Given the description of an element on the screen output the (x, y) to click on. 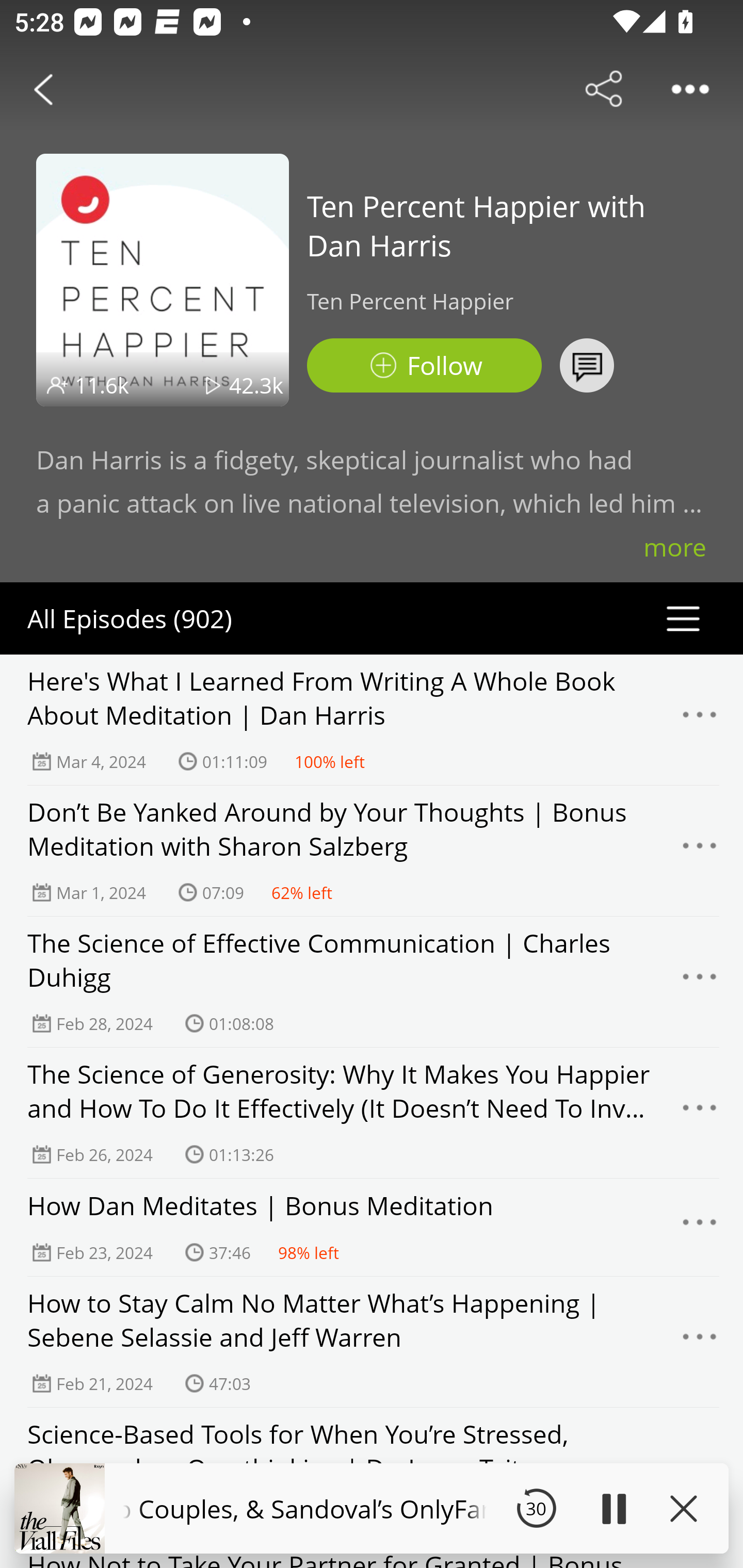
Back (43, 88)
Podbean Follow (423, 365)
11.6k (102, 384)
more (674, 546)
Menu (699, 720)
Menu (699, 850)
Menu (699, 982)
Menu (699, 1113)
Menu (699, 1227)
Menu (699, 1342)
Play (613, 1507)
30 Seek Backward (536, 1508)
